Given the description of an element on the screen output the (x, y) to click on. 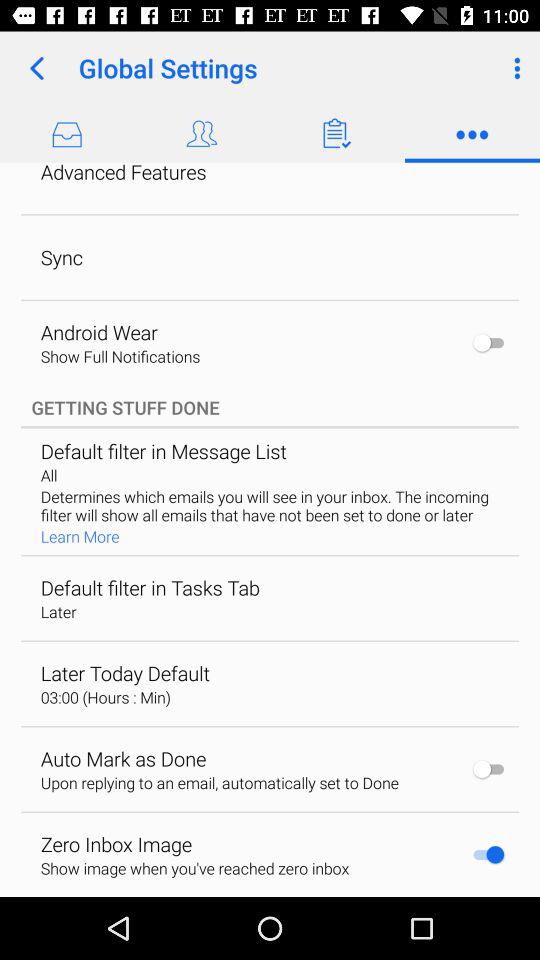
tap auto mark as item (123, 758)
